Given the description of an element on the screen output the (x, y) to click on. 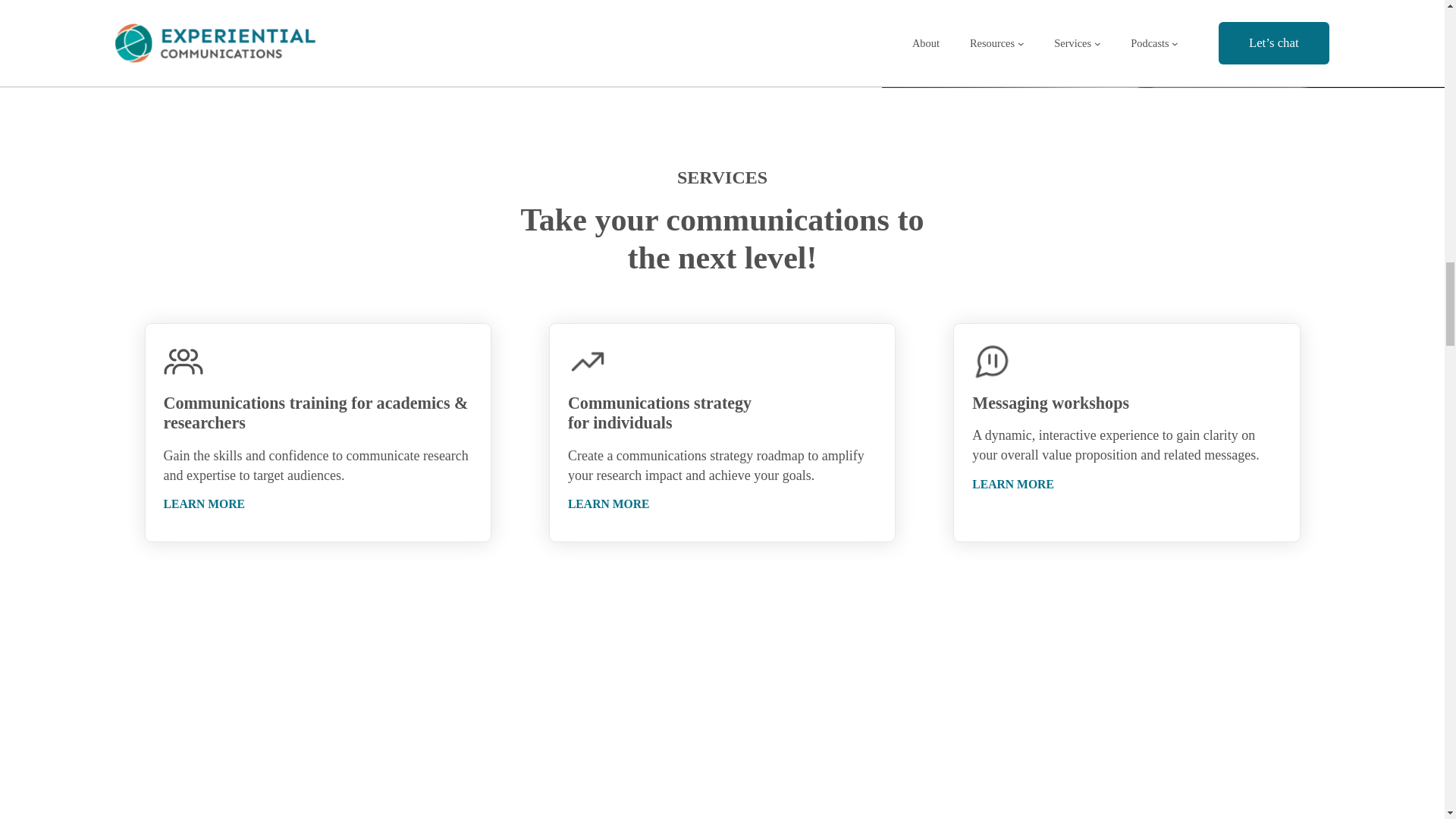
LEARN MORE (204, 503)
LEARN MORE (1013, 483)
LEARN MORE (608, 503)
